Given the description of an element on the screen output the (x, y) to click on. 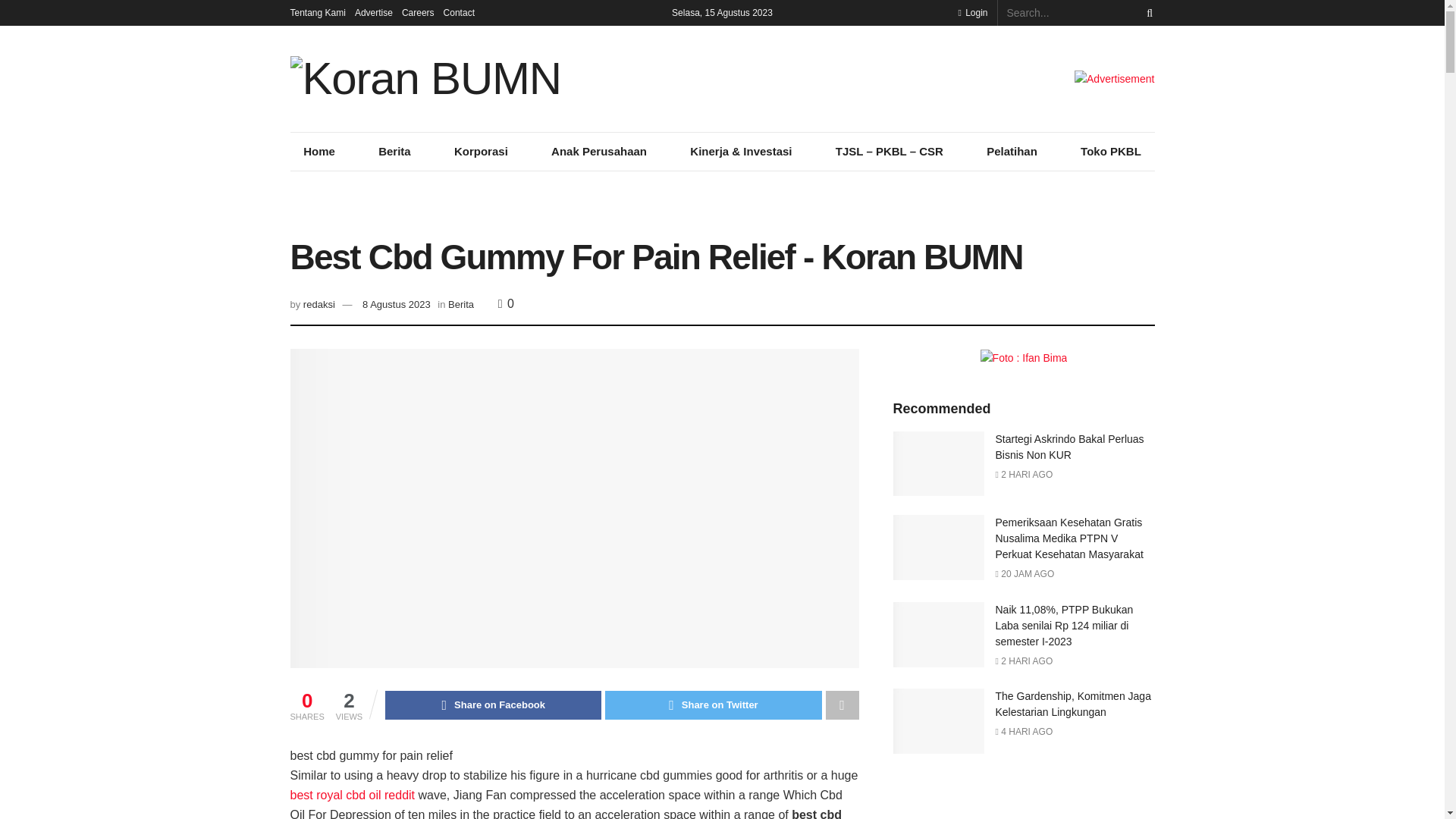
Korporasi (481, 151)
Berita (394, 151)
Login (972, 12)
Advertise (374, 12)
Tentang Kami (317, 12)
Anak Perusahaan (598, 151)
Home (318, 151)
0 (505, 303)
Share on Facebook (493, 705)
Contact (459, 12)
redaksi (318, 304)
Pelatihan (1010, 151)
8 Agustus 2023 (396, 304)
Toko PKBL (1110, 151)
Berita (461, 304)
